Given the description of an element on the screen output the (x, y) to click on. 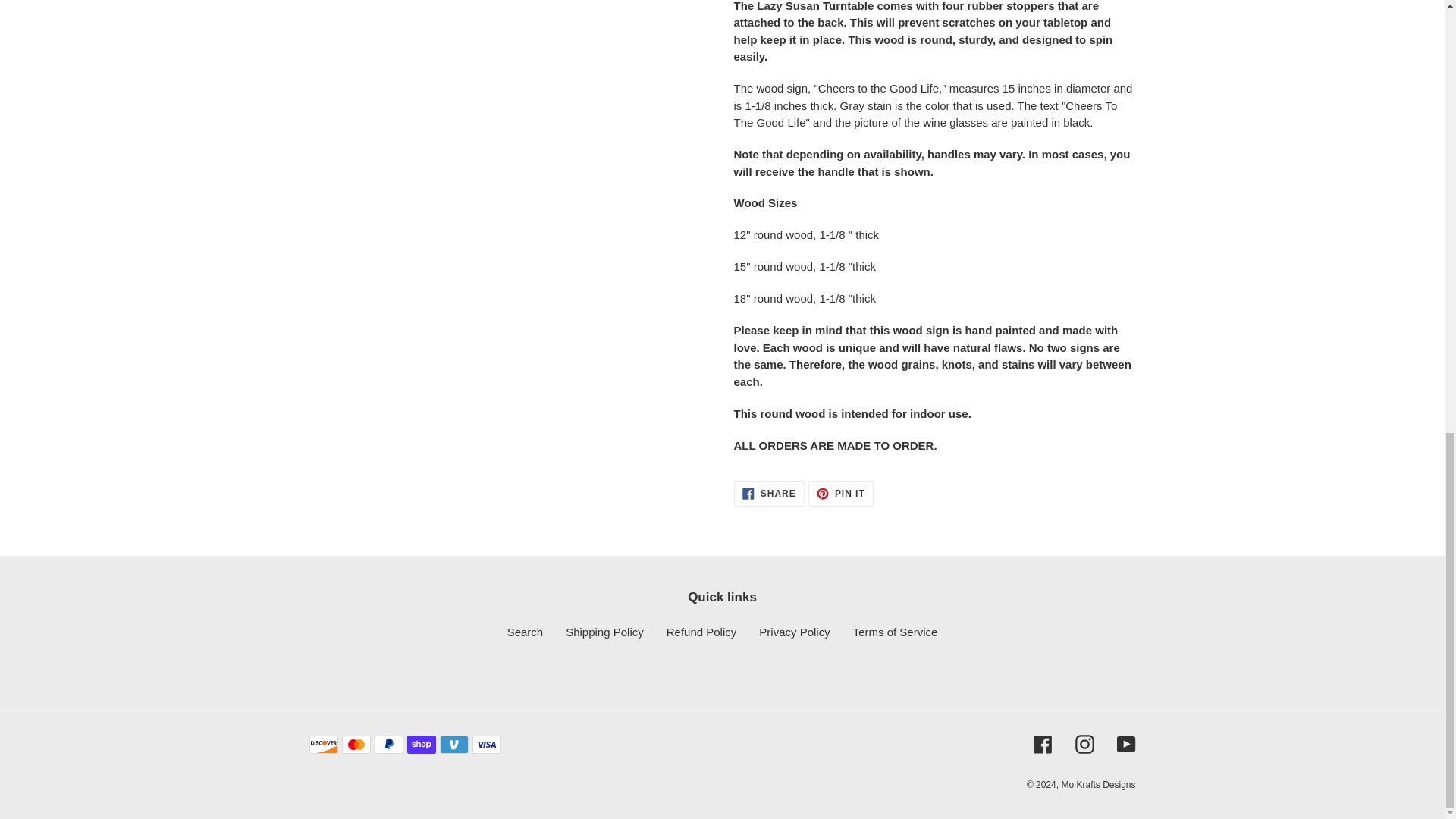
Shipping Policy (840, 493)
Refund Policy (604, 631)
Facebook (701, 631)
Instagram (1041, 743)
YouTube (1084, 743)
Privacy Policy (1125, 743)
Terms of Service (793, 631)
Search (895, 631)
Mo Krafts Designs (524, 631)
